Given the description of an element on the screen output the (x, y) to click on. 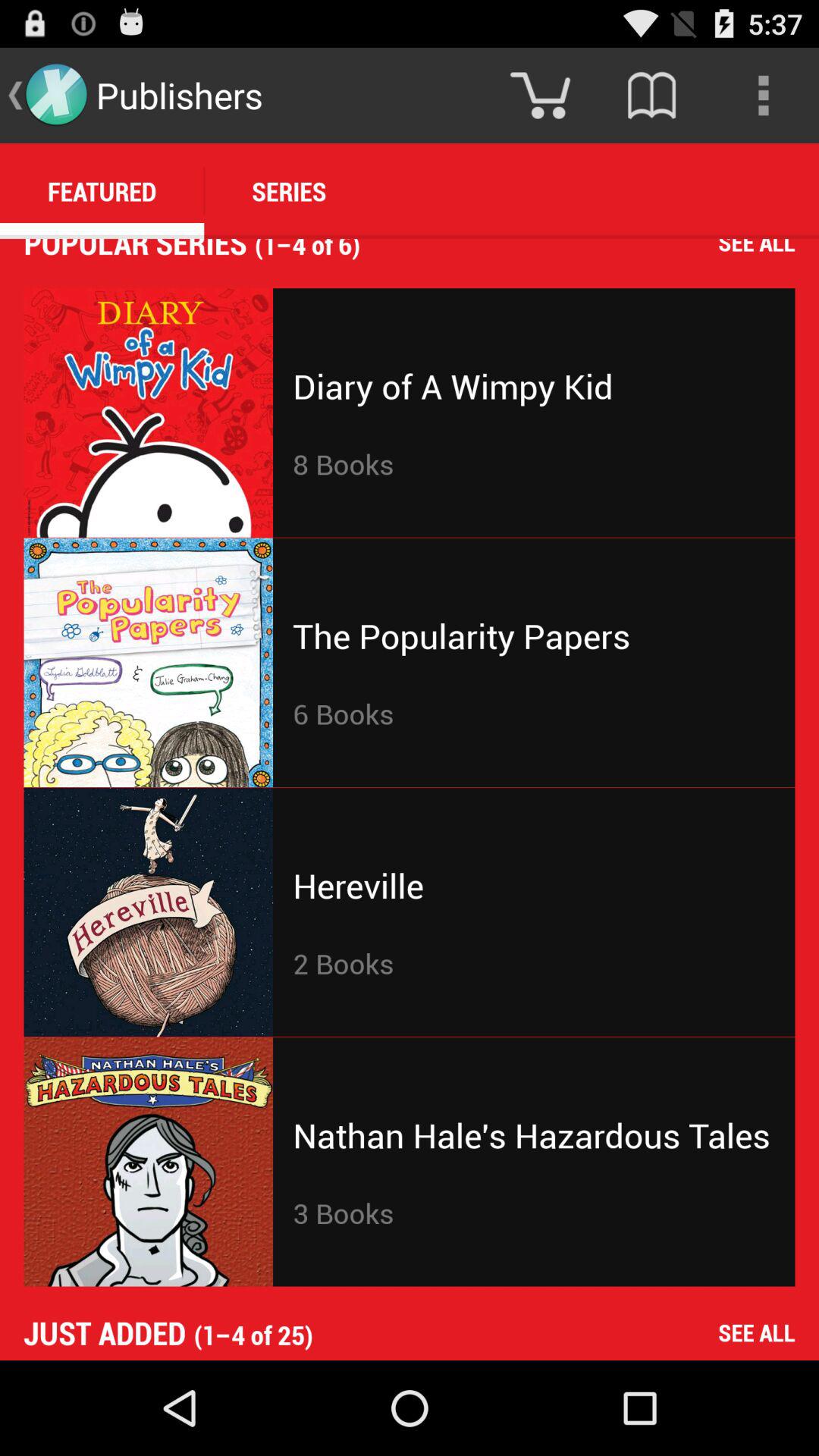
open icon above 1 4 of icon (651, 95)
